Given the description of an element on the screen output the (x, y) to click on. 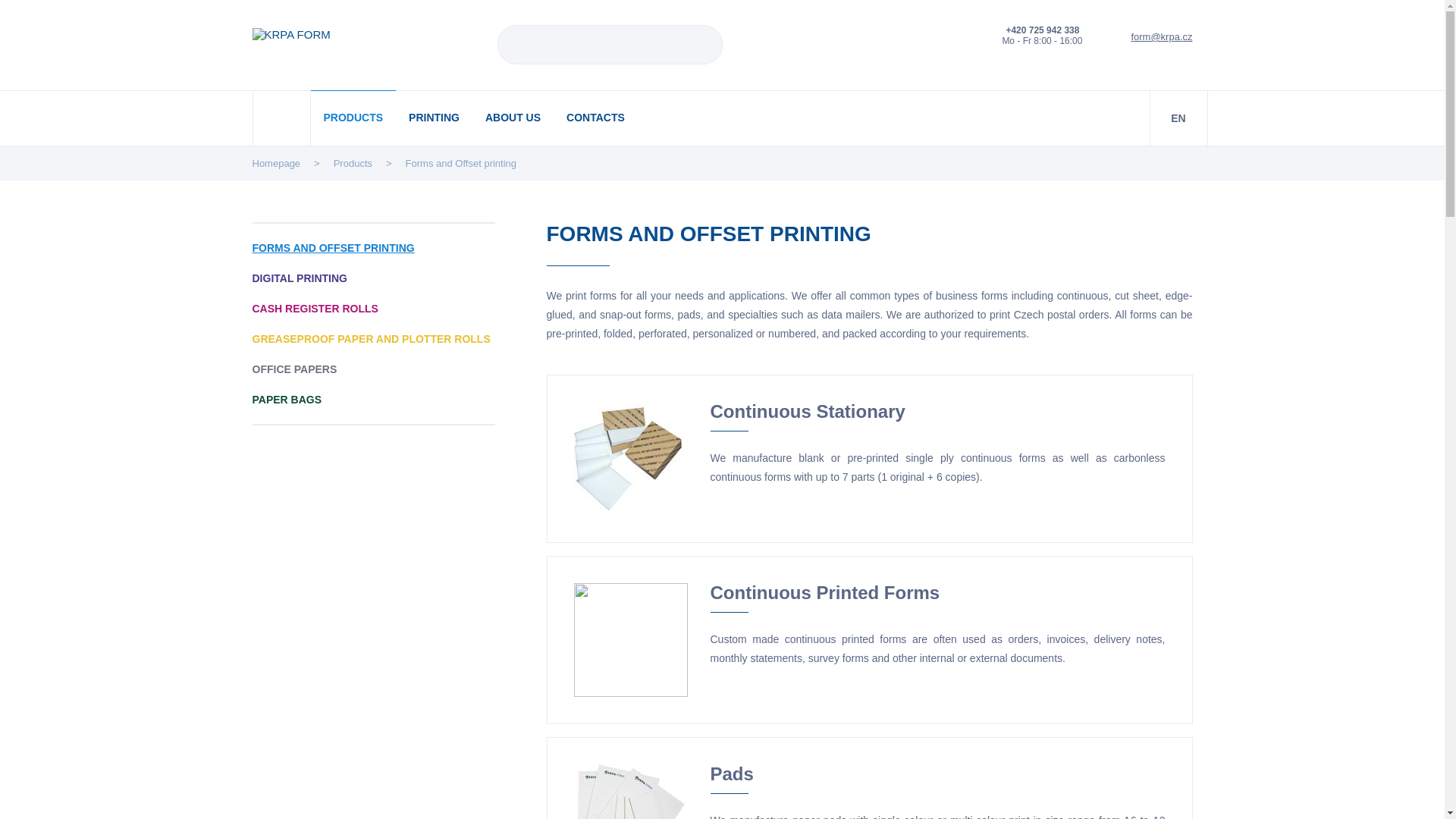
DIGITAL PRINTING (373, 277)
CASH REGISTER ROLLS (373, 308)
OFFICE PAPERS (373, 368)
Forms and Offset printing (461, 163)
search (705, 44)
FORMS AND OFFSET PRINTING (373, 247)
PAPER BAGS (373, 399)
GREASEPROOF PAPER AND PLOTTER ROLLS (373, 338)
PRODUCTS (353, 117)
Products (352, 163)
PRINTING (433, 117)
EN (1178, 117)
ABOUT US (512, 117)
Homepage (275, 163)
CONTACTS (595, 117)
